Given the description of an element on the screen output the (x, y) to click on. 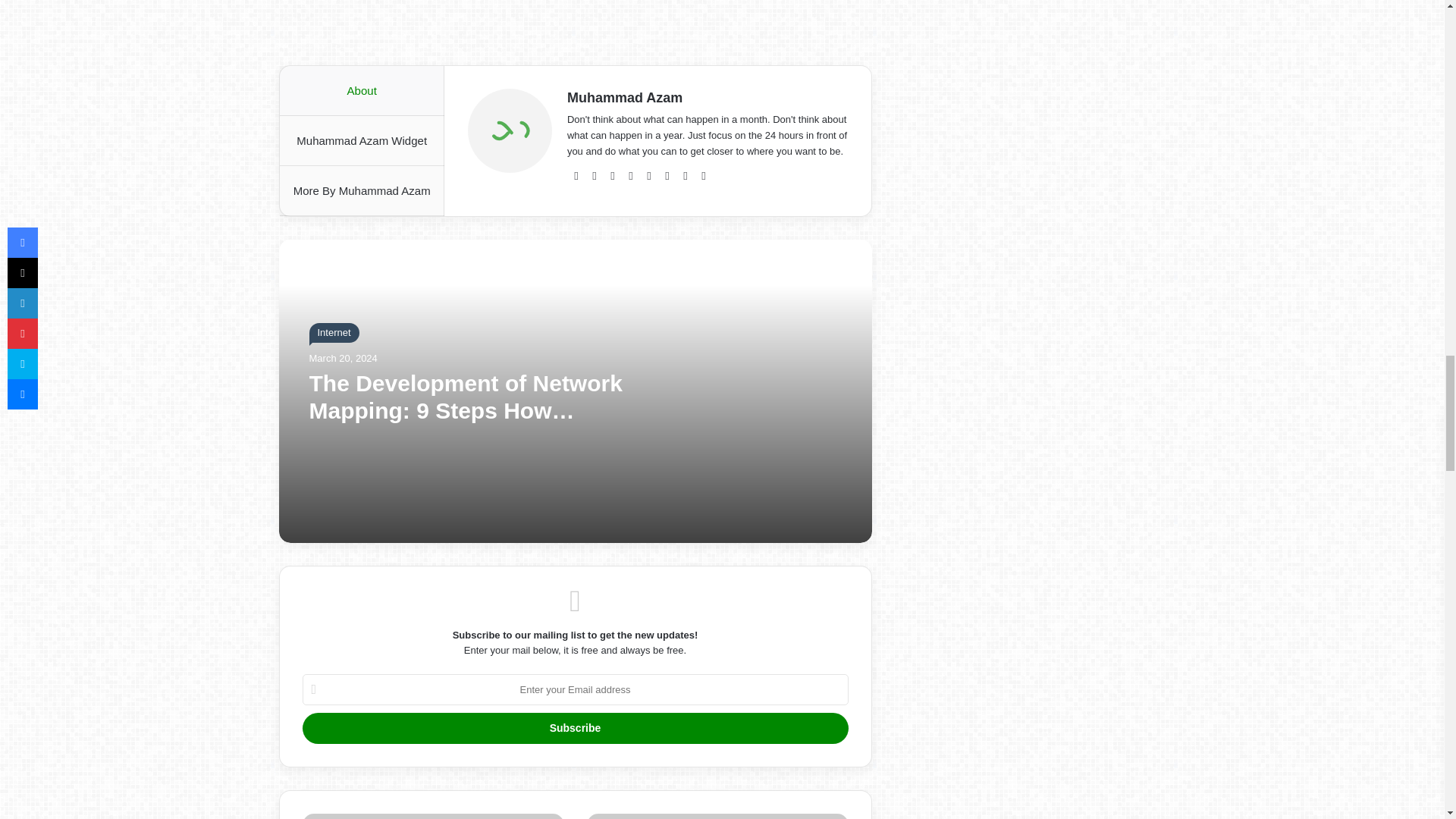
Subscribe (574, 727)
